Given the description of an element on the screen output the (x, y) to click on. 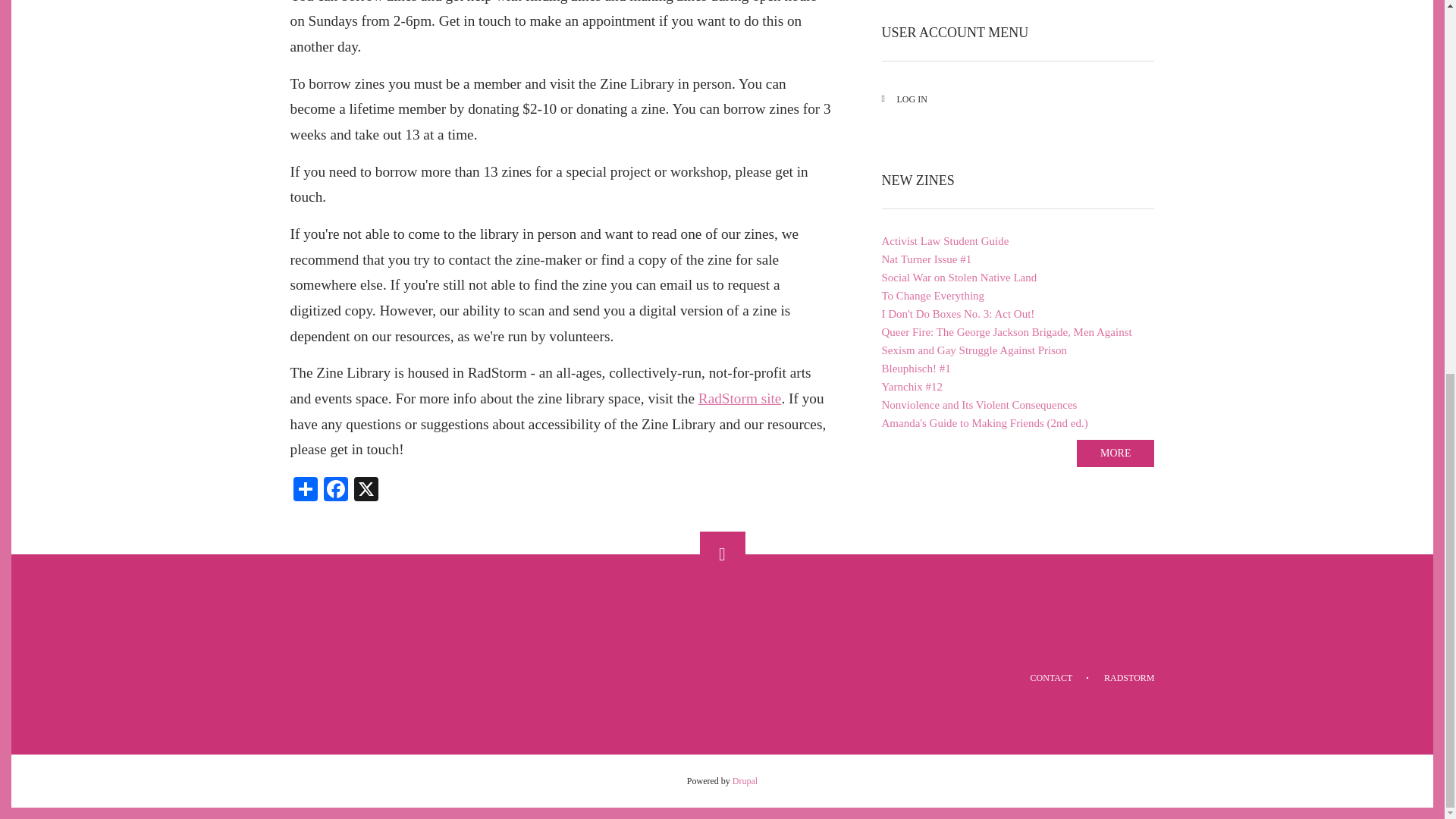
Social War on Stolen Native Land (1017, 277)
Share (304, 487)
To Change Everything (1017, 295)
RadStorm site (739, 398)
LOG IN (1017, 99)
I Don't Do Boxes No. 3: Act Out! (1017, 313)
X (365, 487)
Activist Law Student Guide (1017, 240)
Facebook (335, 487)
